Given the description of an element on the screen output the (x, y) to click on. 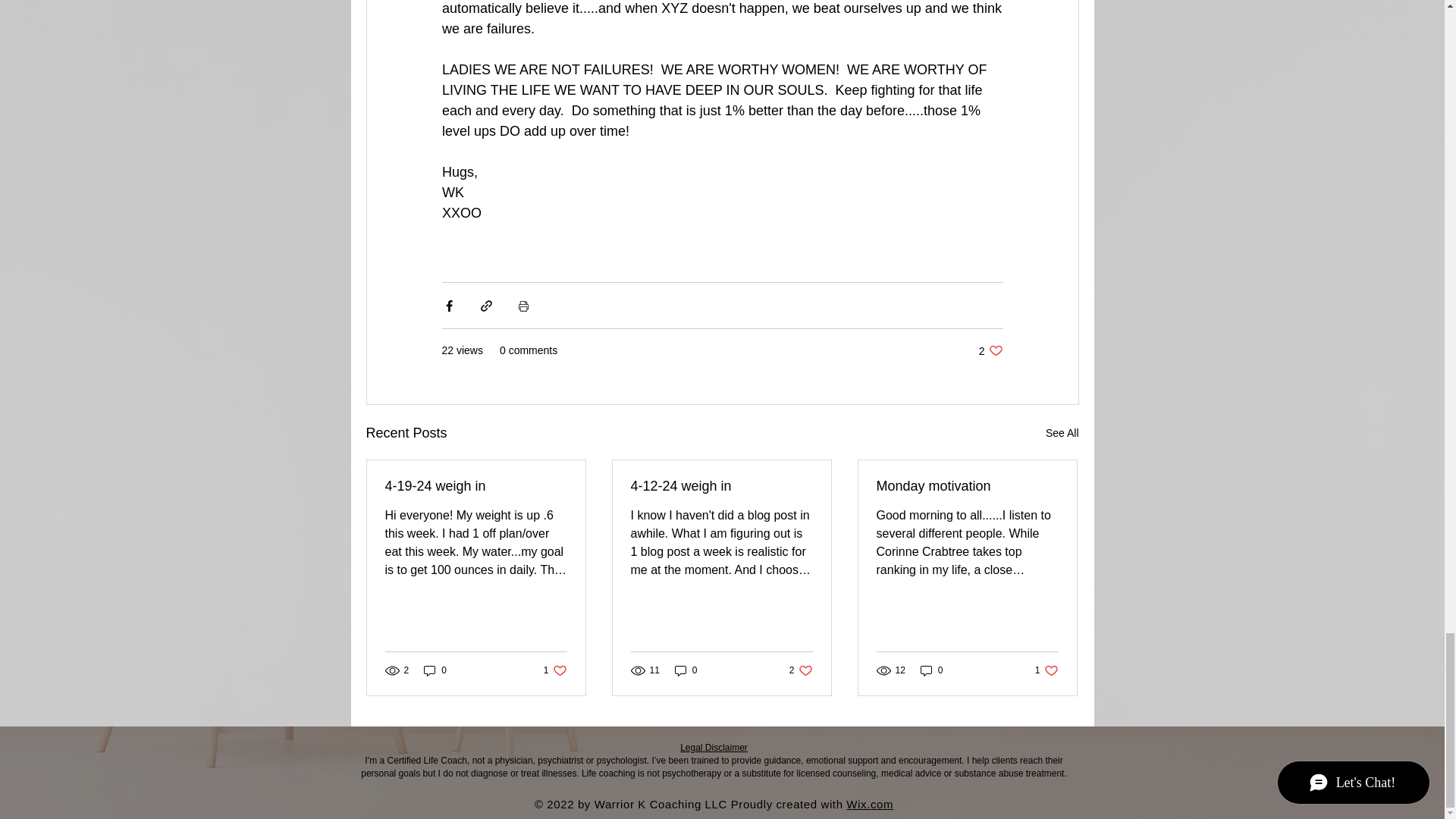
See All (1061, 433)
0 (931, 670)
4-19-24 weigh in (476, 486)
0 (800, 670)
0 (685, 670)
Wix.com (1046, 670)
Monday motivation (555, 670)
4-12-24 weigh in (435, 670)
